Given the description of an element on the screen output the (x, y) to click on. 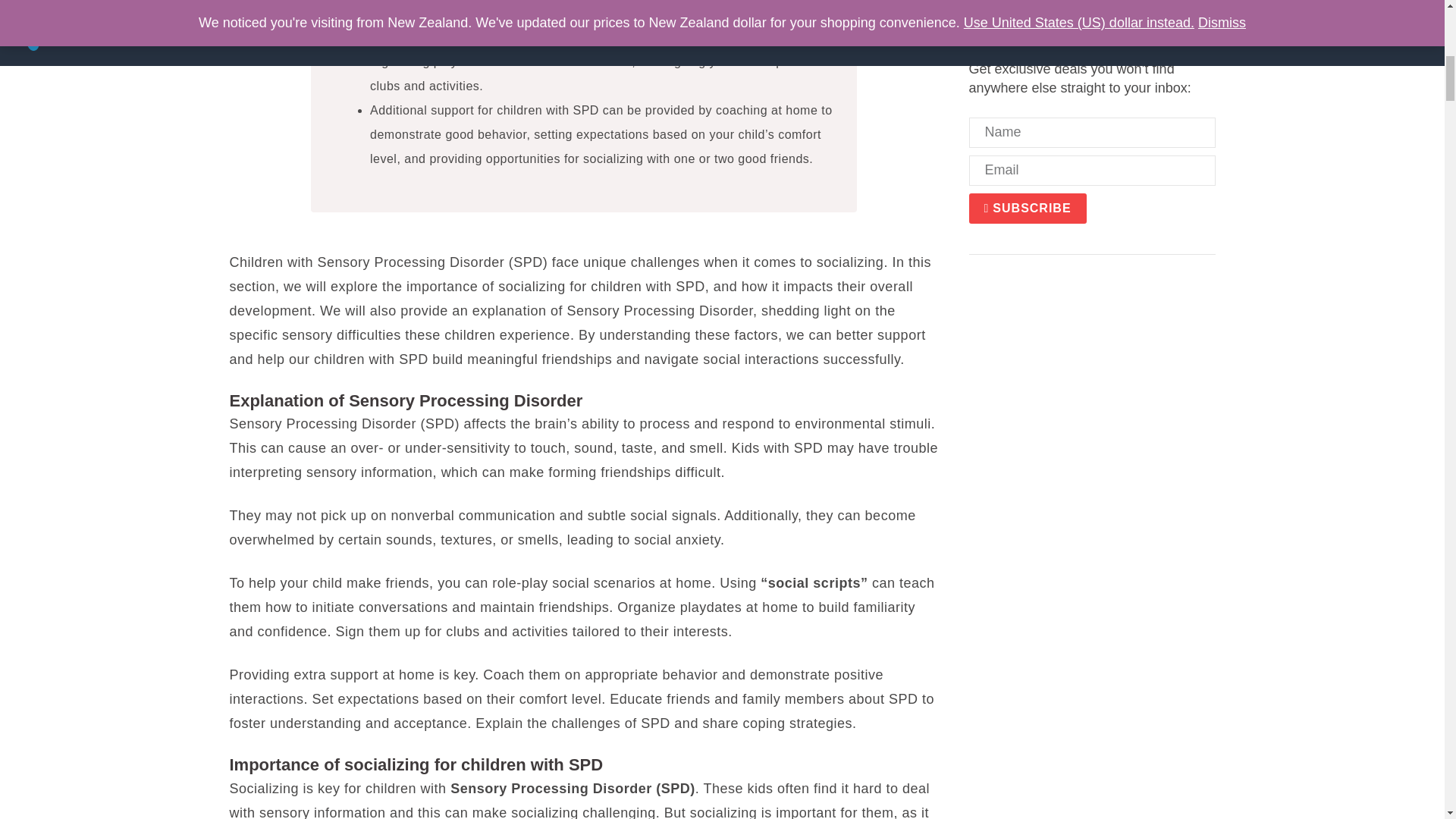
SUBSCRIBE (1027, 207)
